Given the description of an element on the screen output the (x, y) to click on. 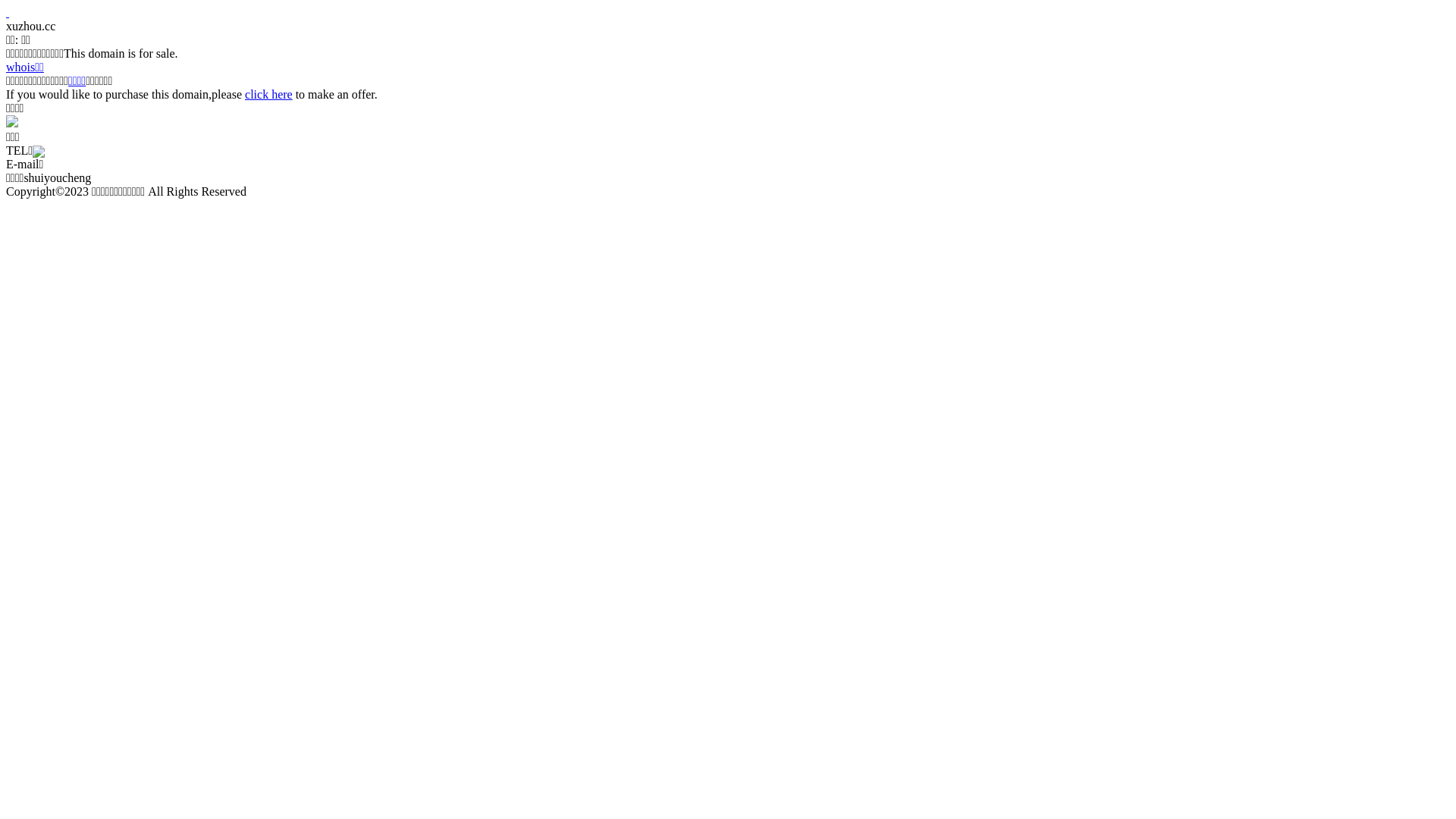
click here Element type: text (268, 93)
  Element type: text (7, 12)
